Given the description of an element on the screen output the (x, y) to click on. 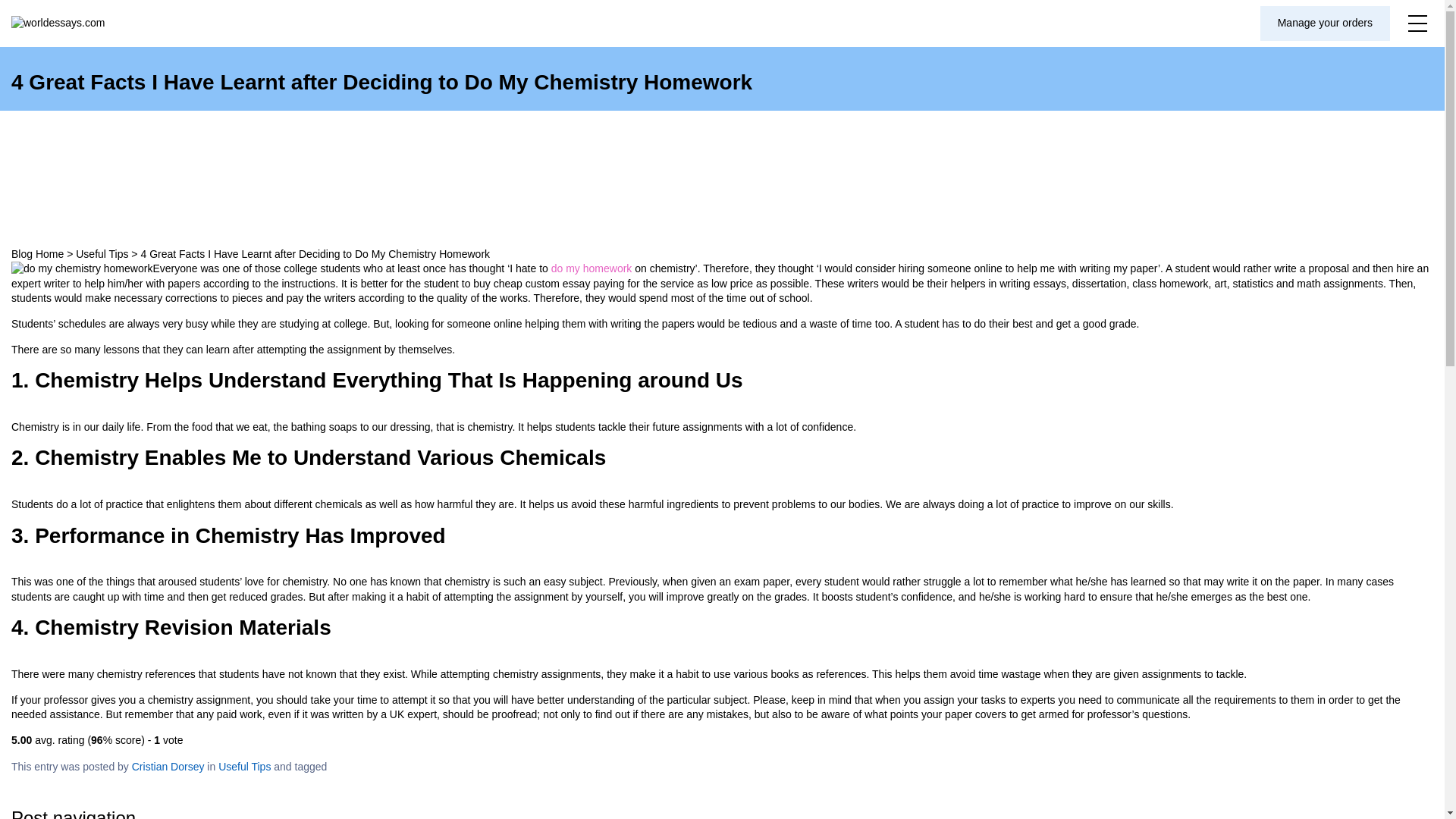
Go to WorldEssays.com. (37, 254)
Manage your orders (1325, 22)
Blog Home (37, 254)
Go to the Useful Tips category archives. (101, 254)
Useful Tips (101, 254)
Useful Tips (244, 766)
Cristian Dorsey (168, 766)
do my homework (591, 268)
